Given the description of an element on the screen output the (x, y) to click on. 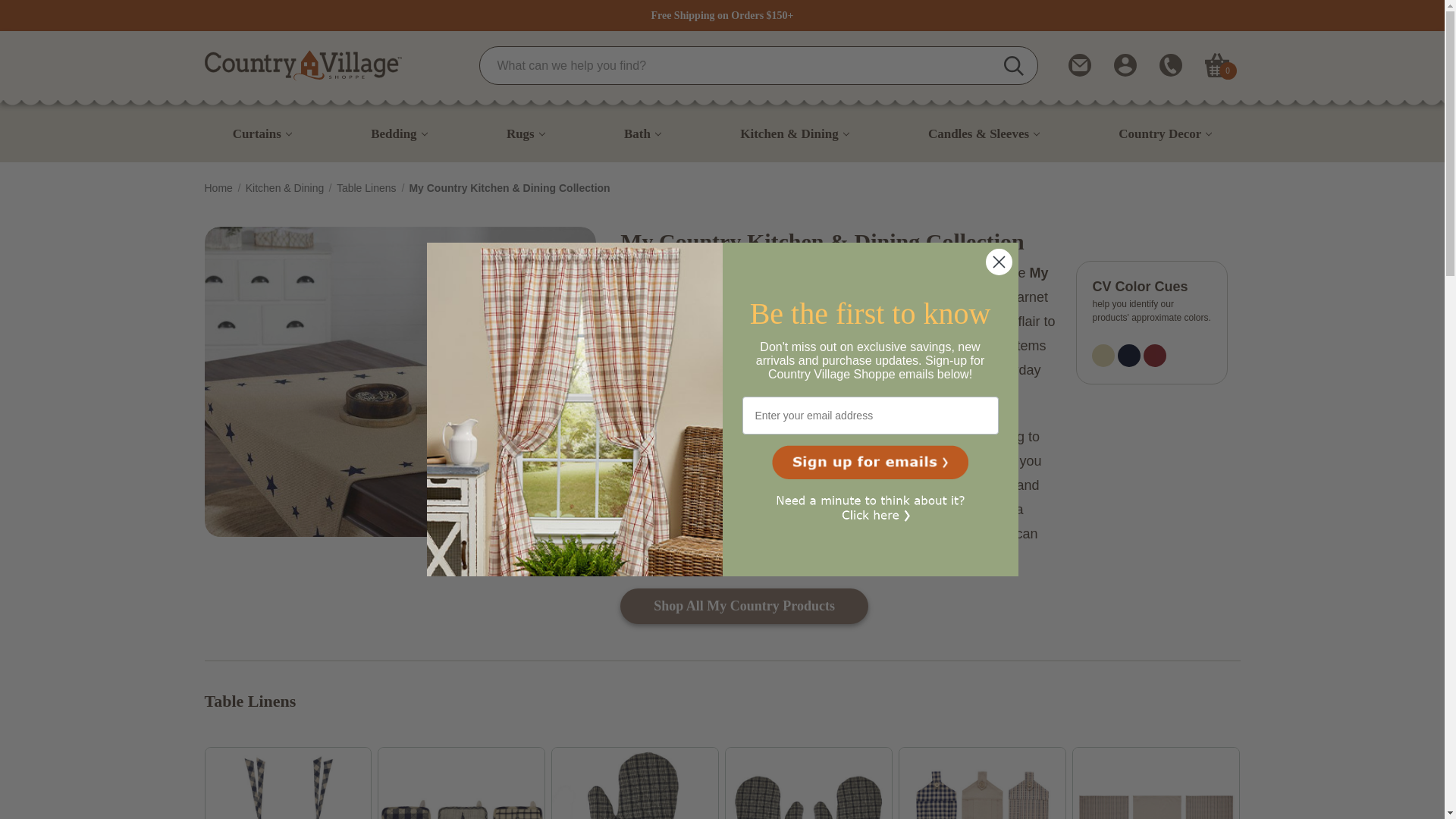
Garnet (1154, 354)
Curtains (261, 134)
Search (758, 65)
Contact Us (1078, 65)
Call Us 1-888-380-1799 (1169, 65)
My Account (1124, 65)
Country Village Shoppe (303, 65)
Darkest Navy (1129, 354)
0 (1216, 65)
Tan (1103, 354)
